Given the description of an element on the screen output the (x, y) to click on. 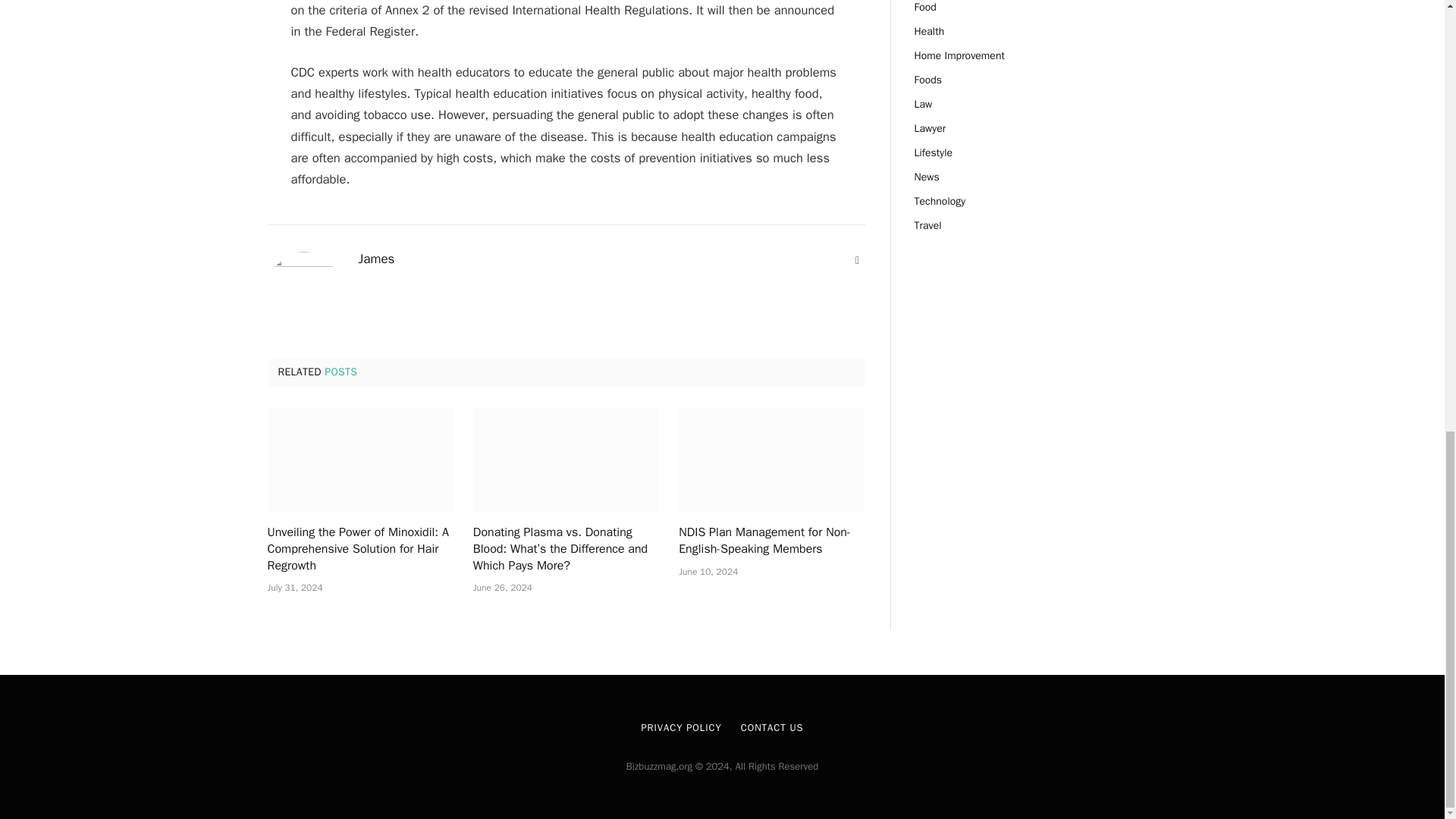
Website (856, 260)
NDIS Plan Management for Non-English-Speaking Members (771, 540)
Posts by James (376, 258)
James (376, 258)
Website (856, 260)
NDIS Plan Management for Non-English-Speaking Members (771, 459)
